Given the description of an element on the screen output the (x, y) to click on. 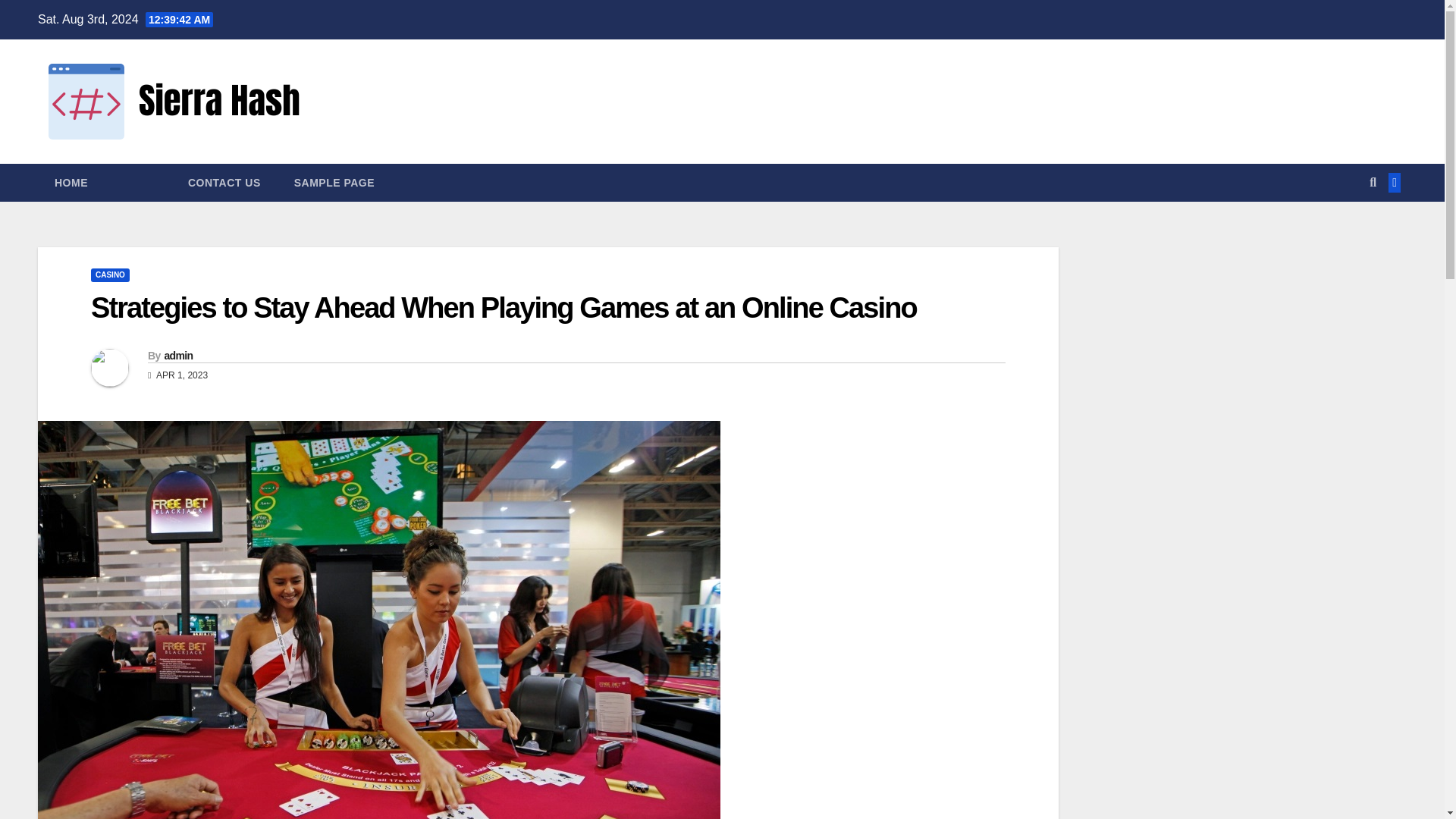
admin (177, 355)
SAMPLE PAGE (334, 182)
HOME (70, 182)
Home (70, 182)
CONTACT US (224, 182)
CASINO (109, 274)
